Given the description of an element on the screen output the (x, y) to click on. 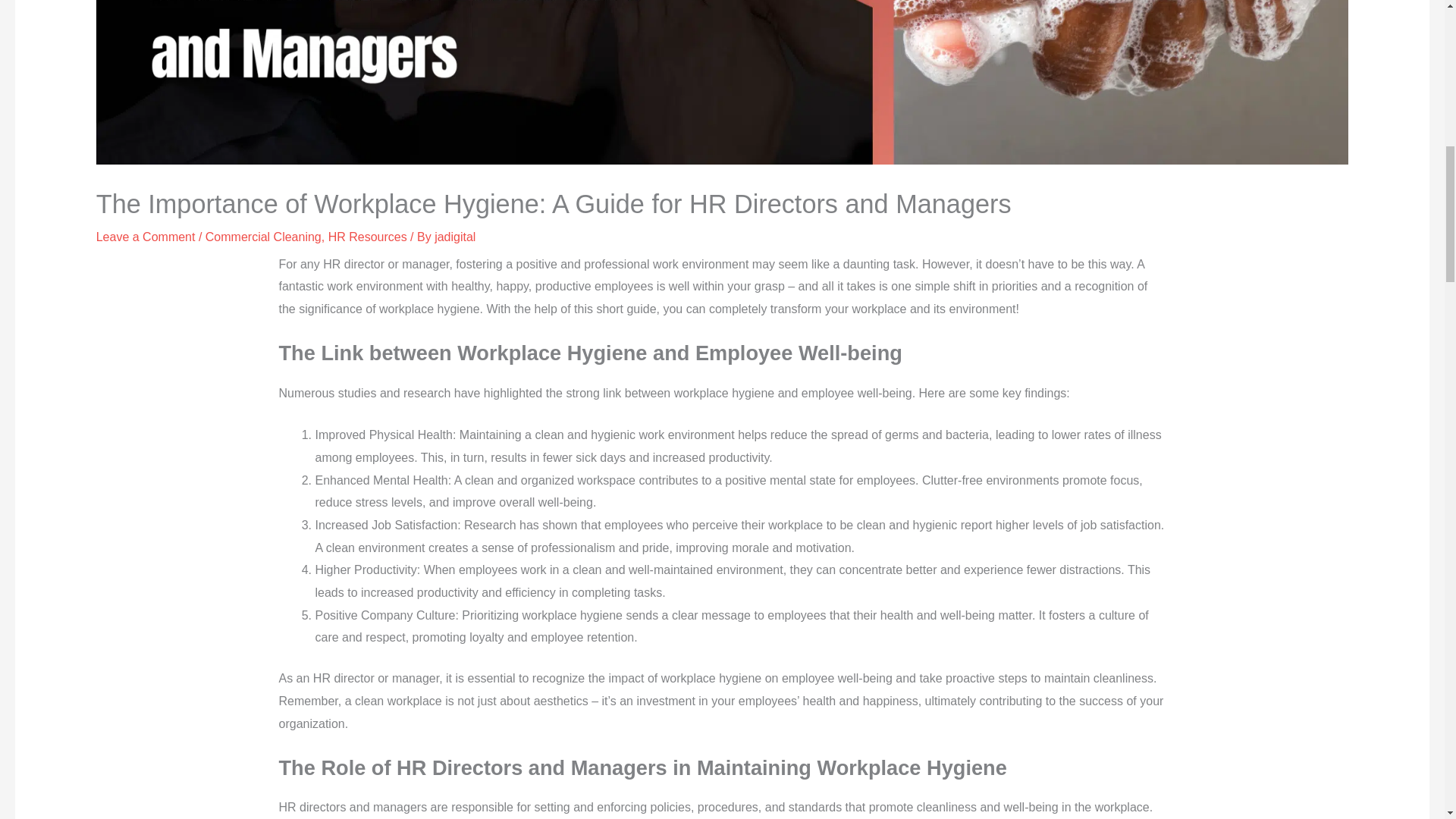
View all posts by jadigital (454, 236)
Leave a Comment (145, 236)
jadigital (454, 236)
Commercial Cleaning (263, 236)
HR Resources (368, 236)
